Given the description of an element on the screen output the (x, y) to click on. 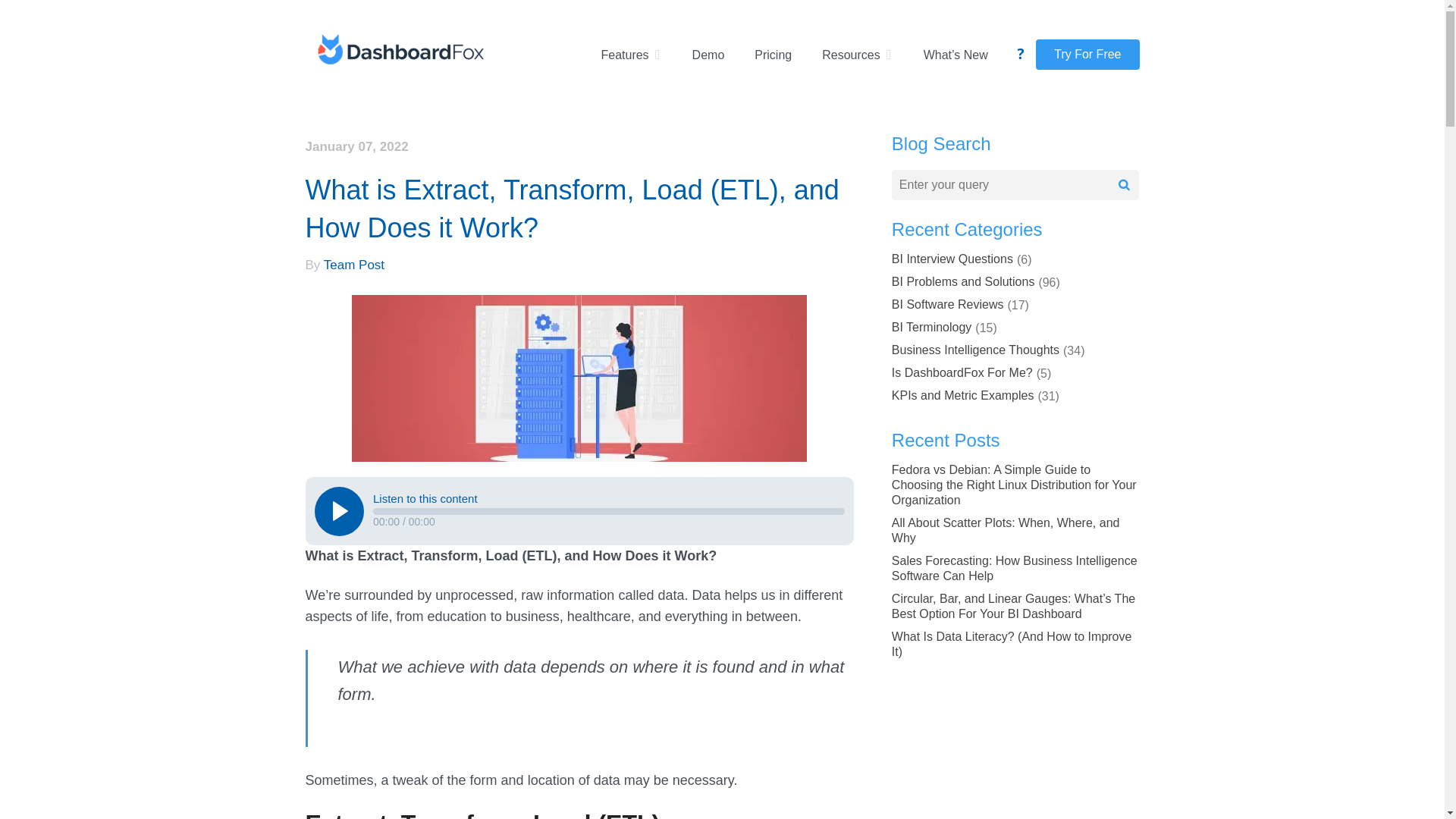
Resources (857, 55)
Team Post (353, 264)
Demo (709, 55)
DashboardFox (399, 51)
Pricing (773, 55)
Try For Free (1086, 54)
Features (630, 55)
Posts by Team Post (353, 264)
